Given the description of an element on the screen output the (x, y) to click on. 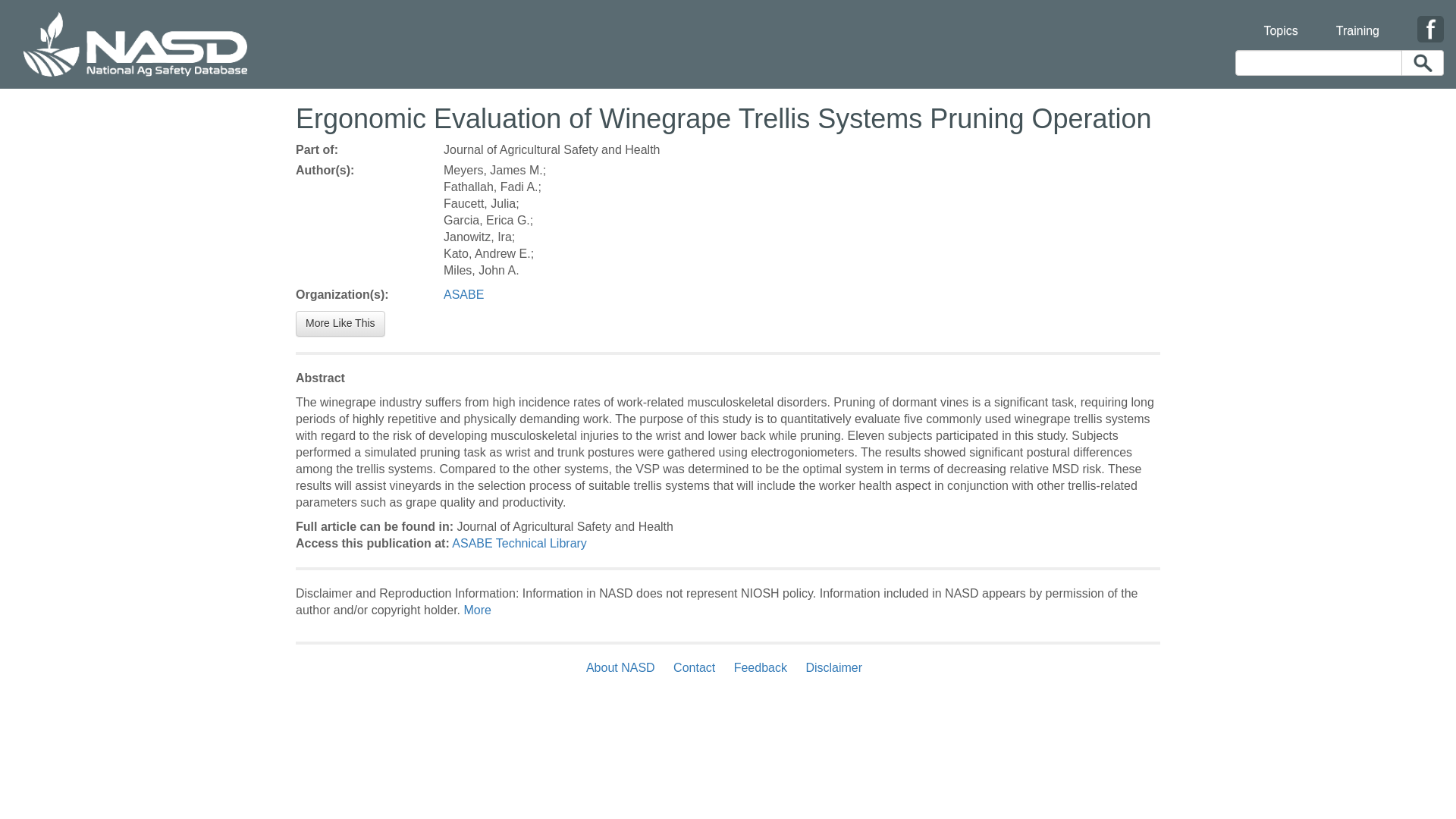
Training (1357, 21)
Topics (1280, 21)
More (476, 609)
More Like This (340, 323)
ASABE Technical Library (518, 543)
Feedback (760, 667)
About NASD (624, 667)
ASABE (463, 294)
Disclaimer (833, 667)
Contact (693, 667)
